Given the description of an element on the screen output the (x, y) to click on. 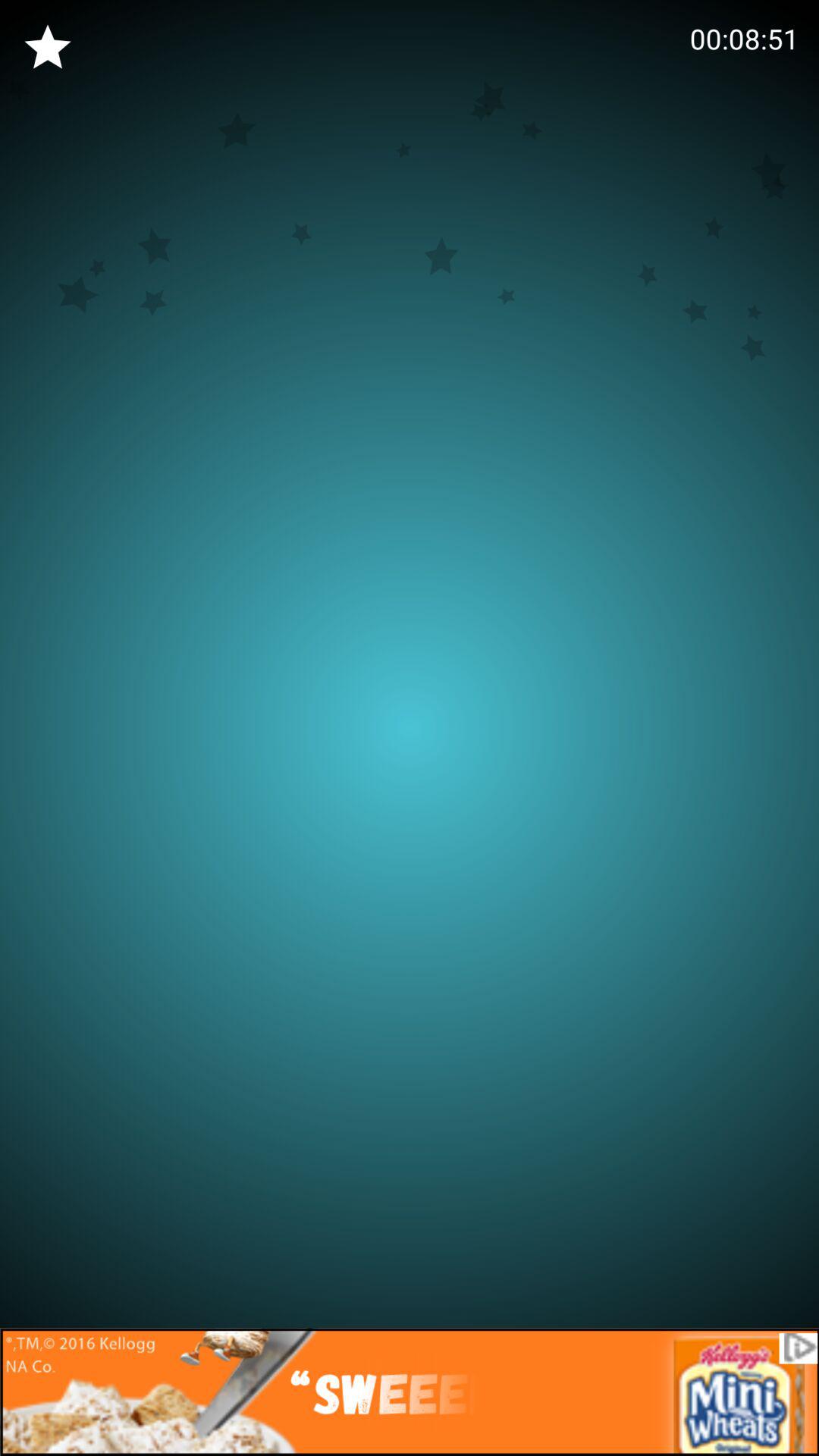
mark as favorite (47, 47)
